Given the description of an element on the screen output the (x, y) to click on. 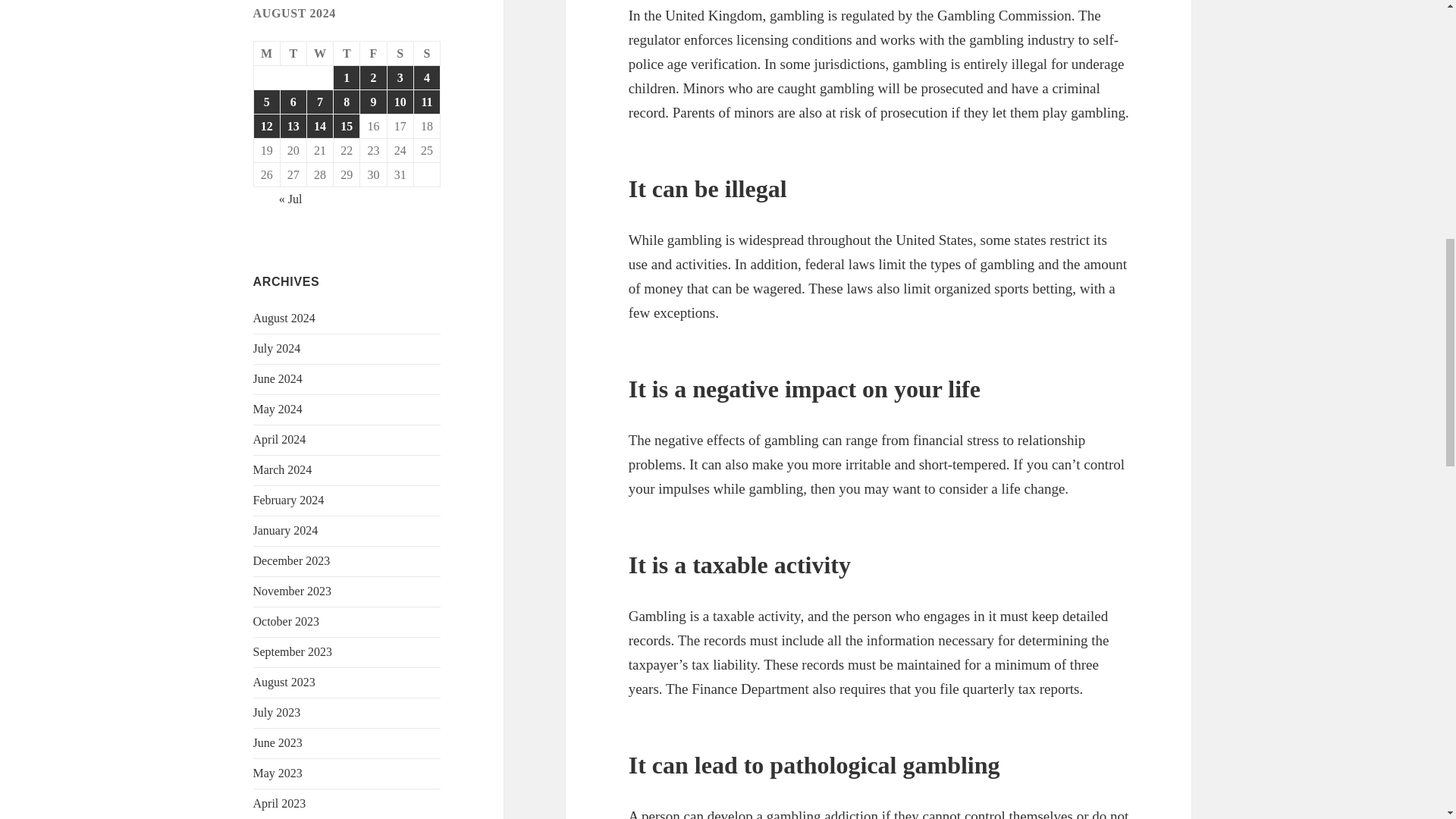
3 (400, 77)
10 (400, 101)
7 (320, 101)
14 (320, 126)
5 (266, 101)
March 2024 (283, 469)
2 (372, 77)
Monday (267, 53)
Saturday (400, 53)
12 (266, 126)
